Given the description of an element on the screen output the (x, y) to click on. 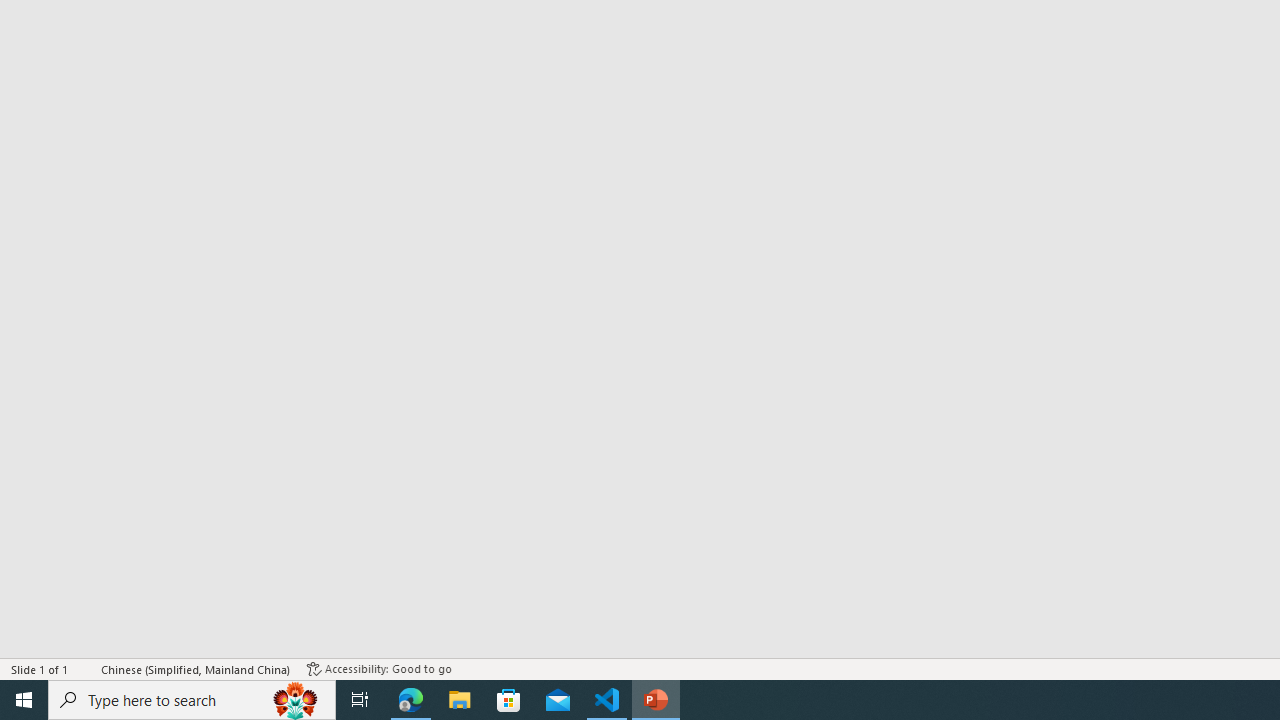
Accessibility Checker Accessibility: Good to go (379, 668)
Spell Check  (86, 668)
